Given the description of an element on the screen output the (x, y) to click on. 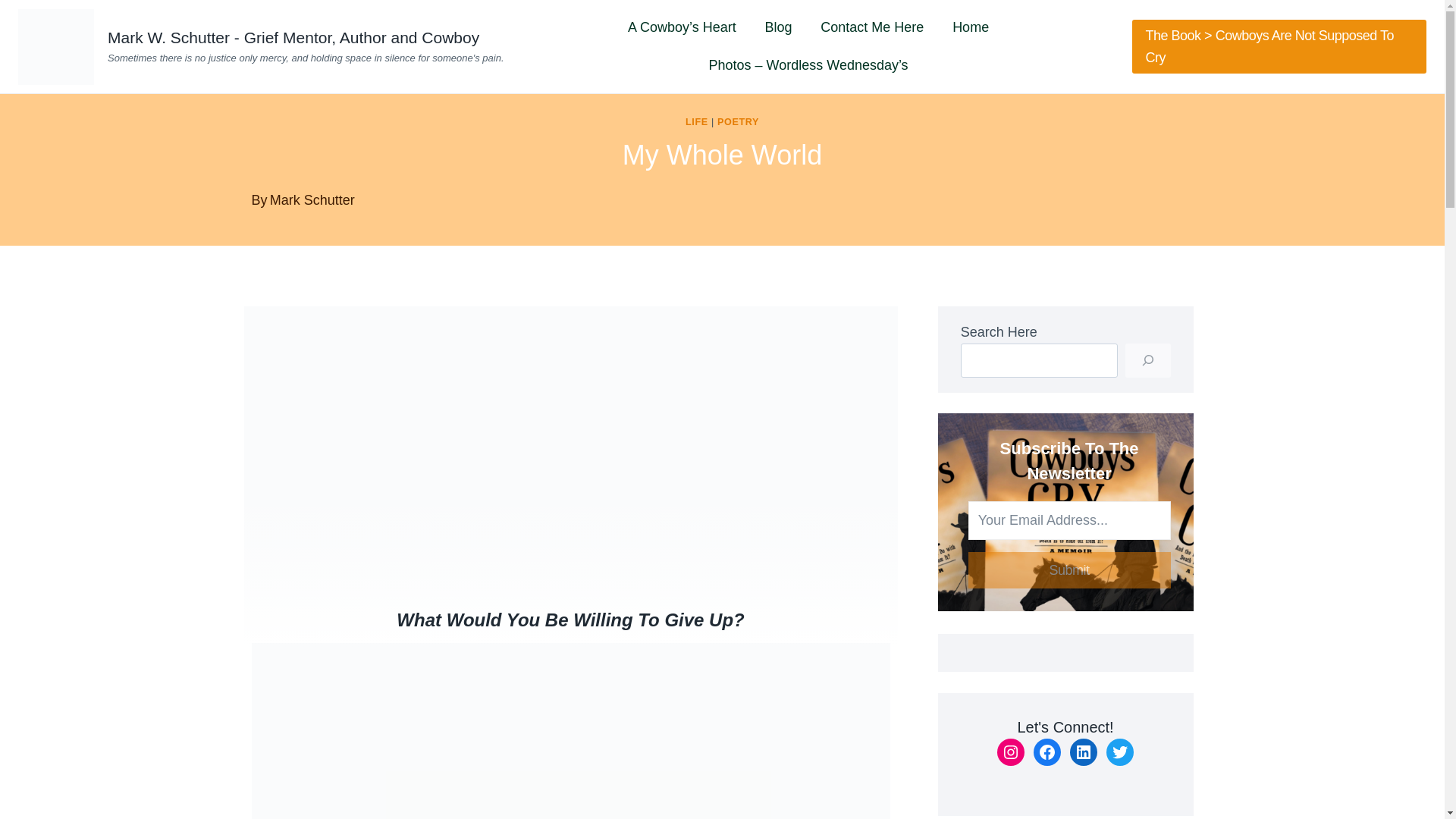
Blog (778, 26)
Home (970, 26)
LIFE (696, 122)
Mark Schutter (312, 200)
Contact Me Here (871, 26)
POETRY (737, 122)
